Given the description of an element on the screen output the (x, y) to click on. 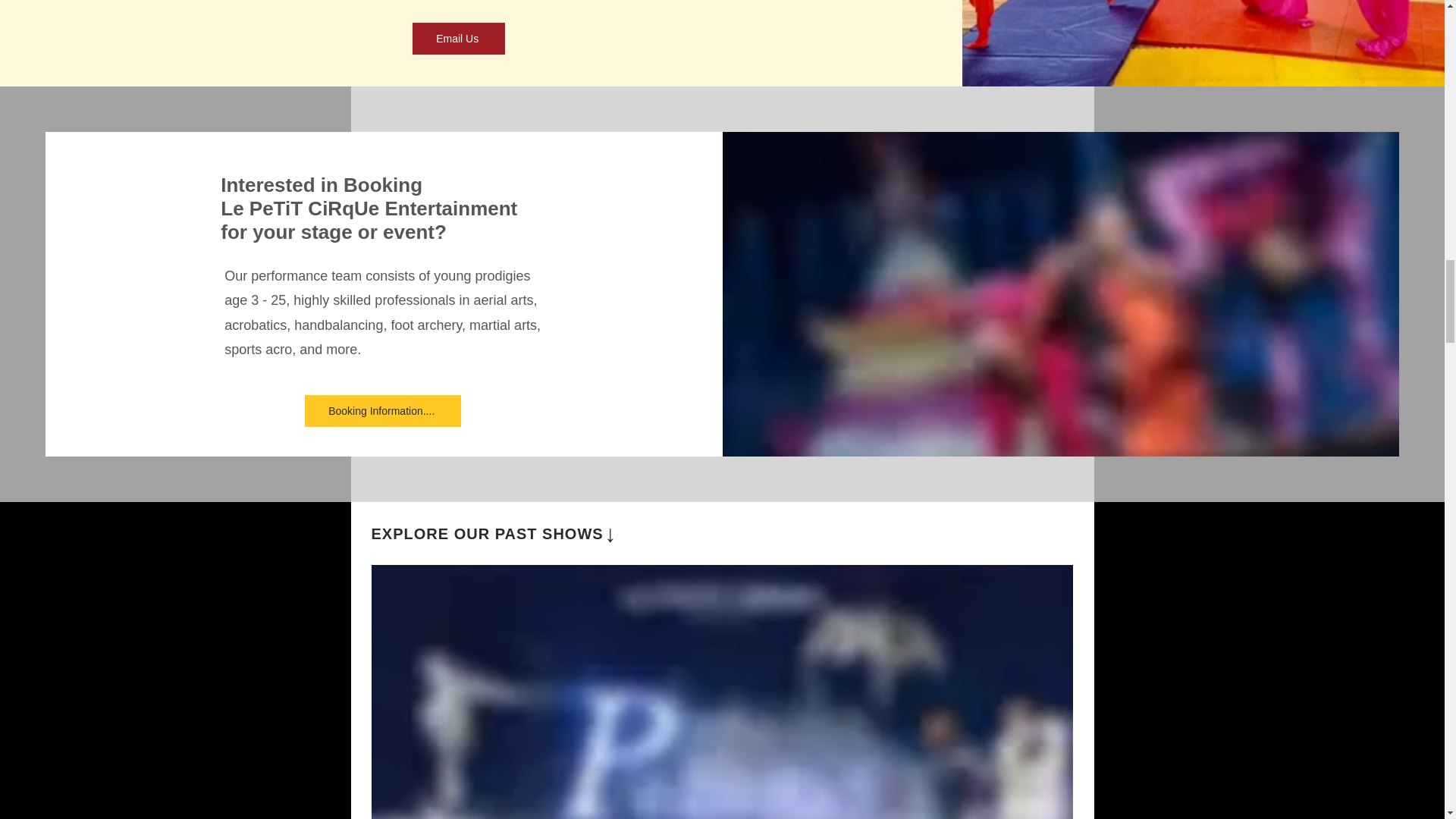
Email Us (458, 38)
Booking Information.... (382, 410)
